Given the description of an element on the screen output the (x, y) to click on. 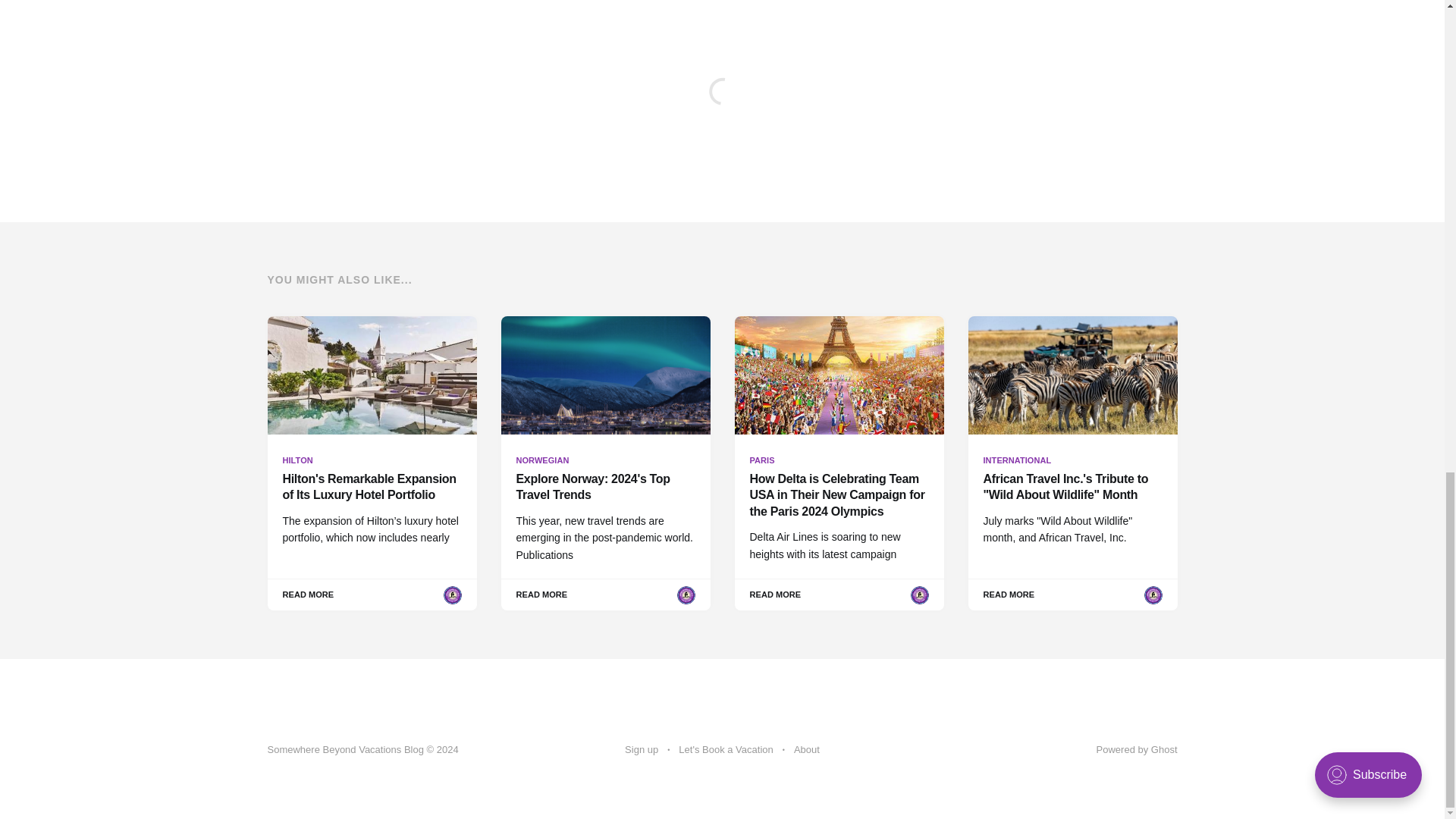
About (806, 750)
Powered by Ghost (1136, 749)
Sign up (582, 2)
Let's Book a Vacation (641, 750)
comments-frame (725, 750)
